Given the description of an element on the screen output the (x, y) to click on. 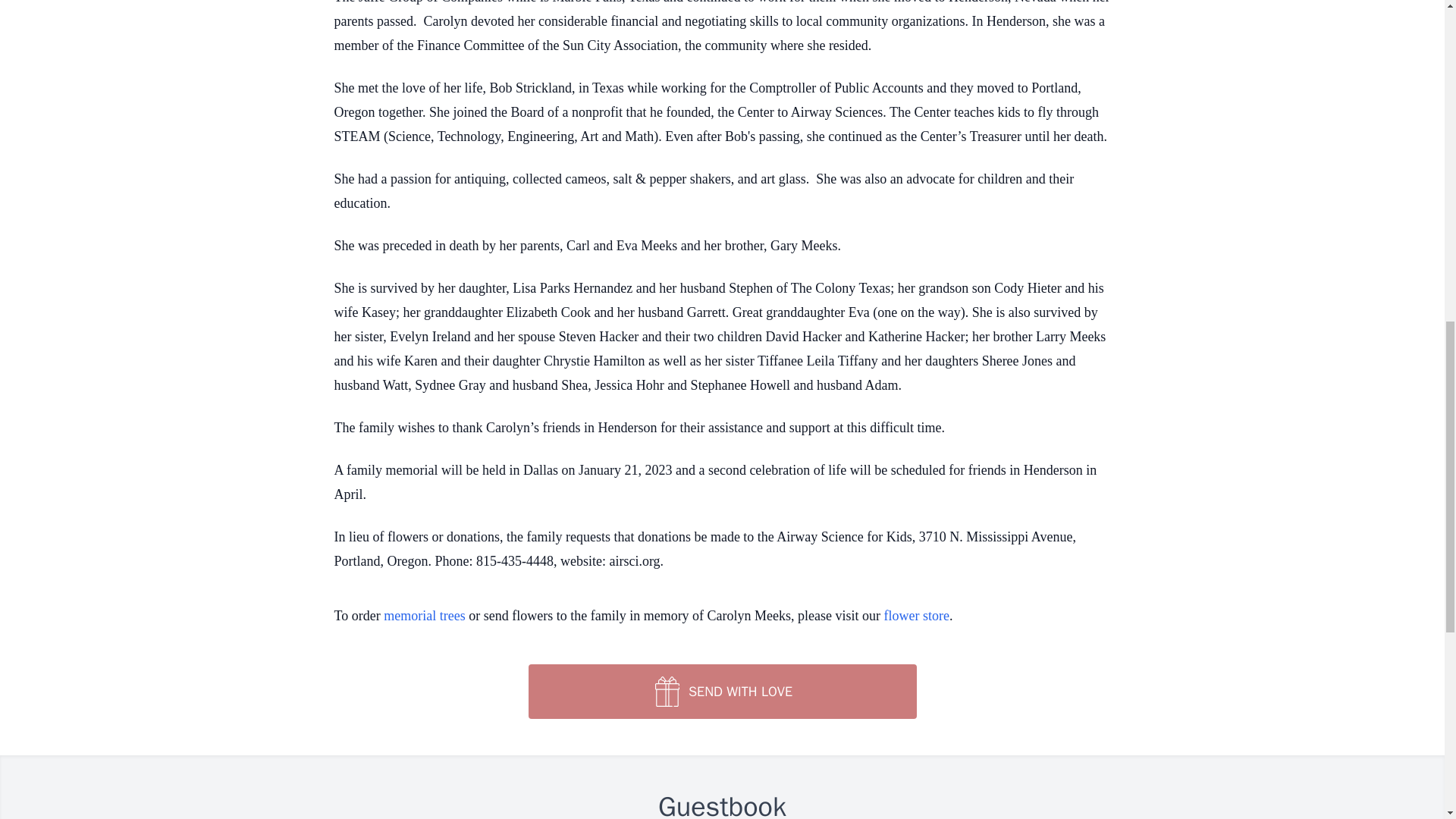
SEND WITH LOVE (721, 691)
memorial trees (424, 615)
flower store (916, 615)
